Given the description of an element on the screen output the (x, y) to click on. 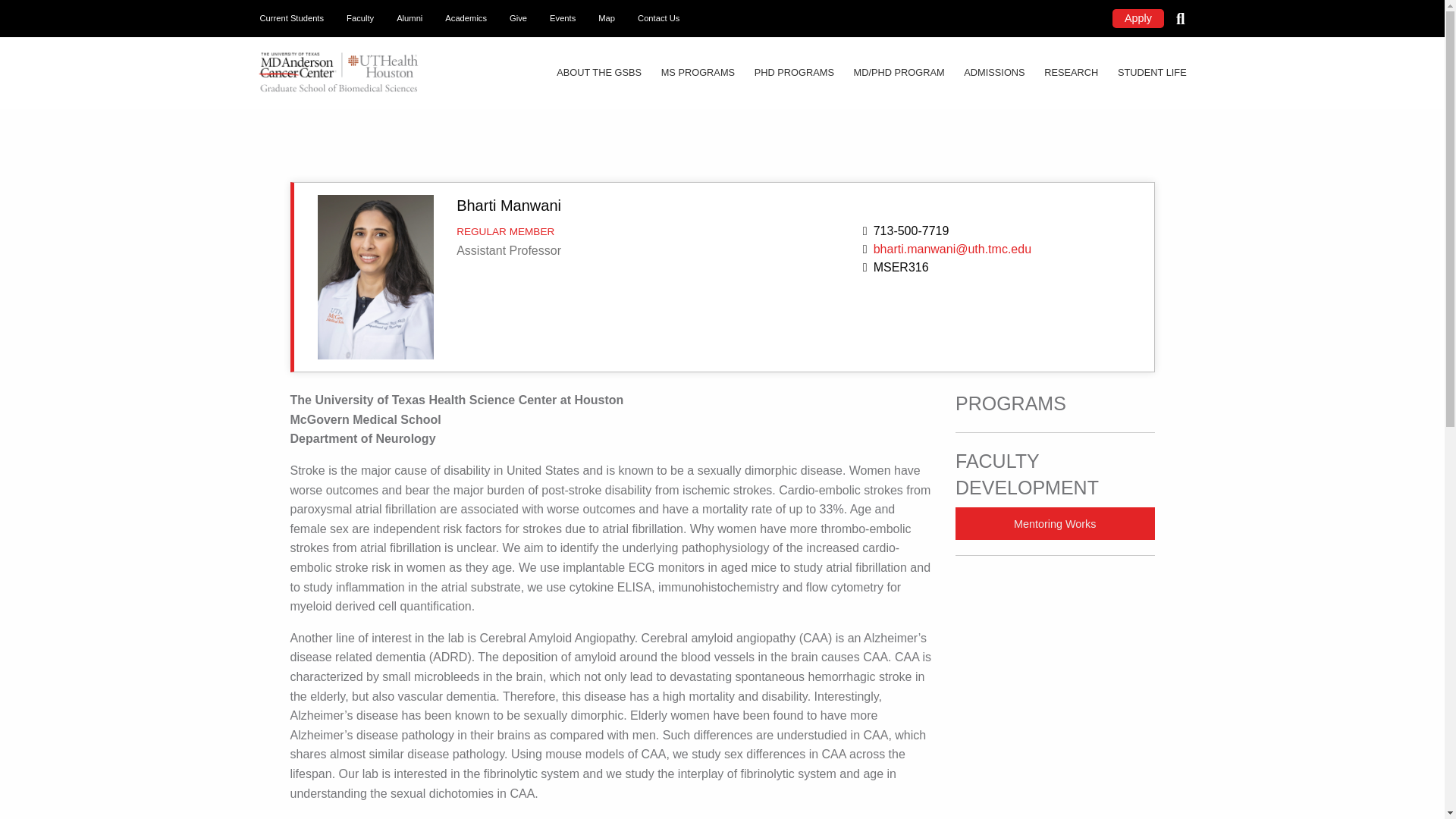
Apply (1137, 18)
Current Students (292, 17)
Give (517, 17)
Faculty (359, 17)
UTHealth - Graduate School of Biomedical Sciences (340, 69)
Alumni (409, 17)
PubMed (312, 818)
Events (562, 17)
Map (606, 17)
Academics (465, 17)
